Given the description of an element on the screen output the (x, y) to click on. 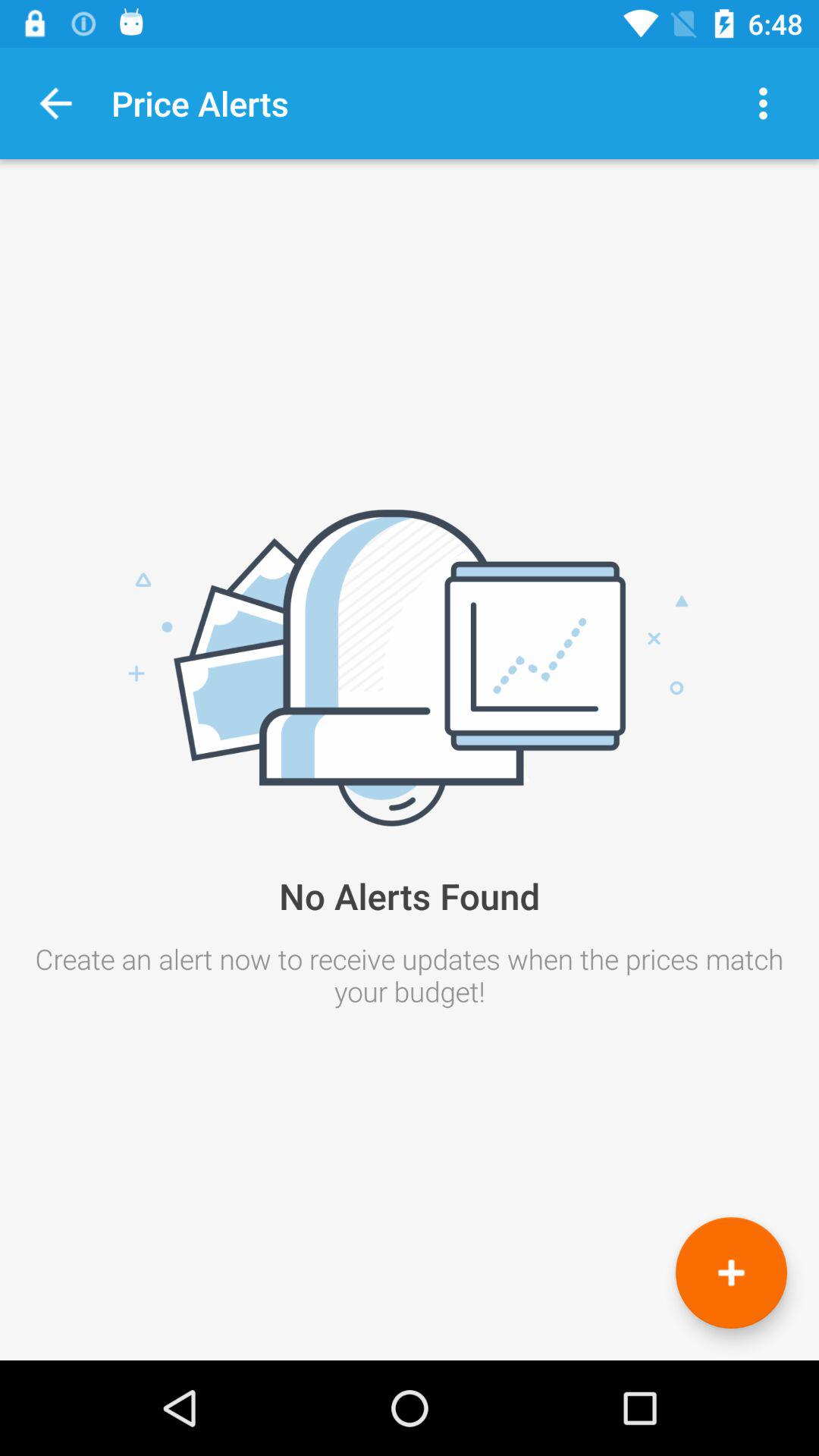
open the item to the right of price alerts item (763, 103)
